Given the description of an element on the screen output the (x, y) to click on. 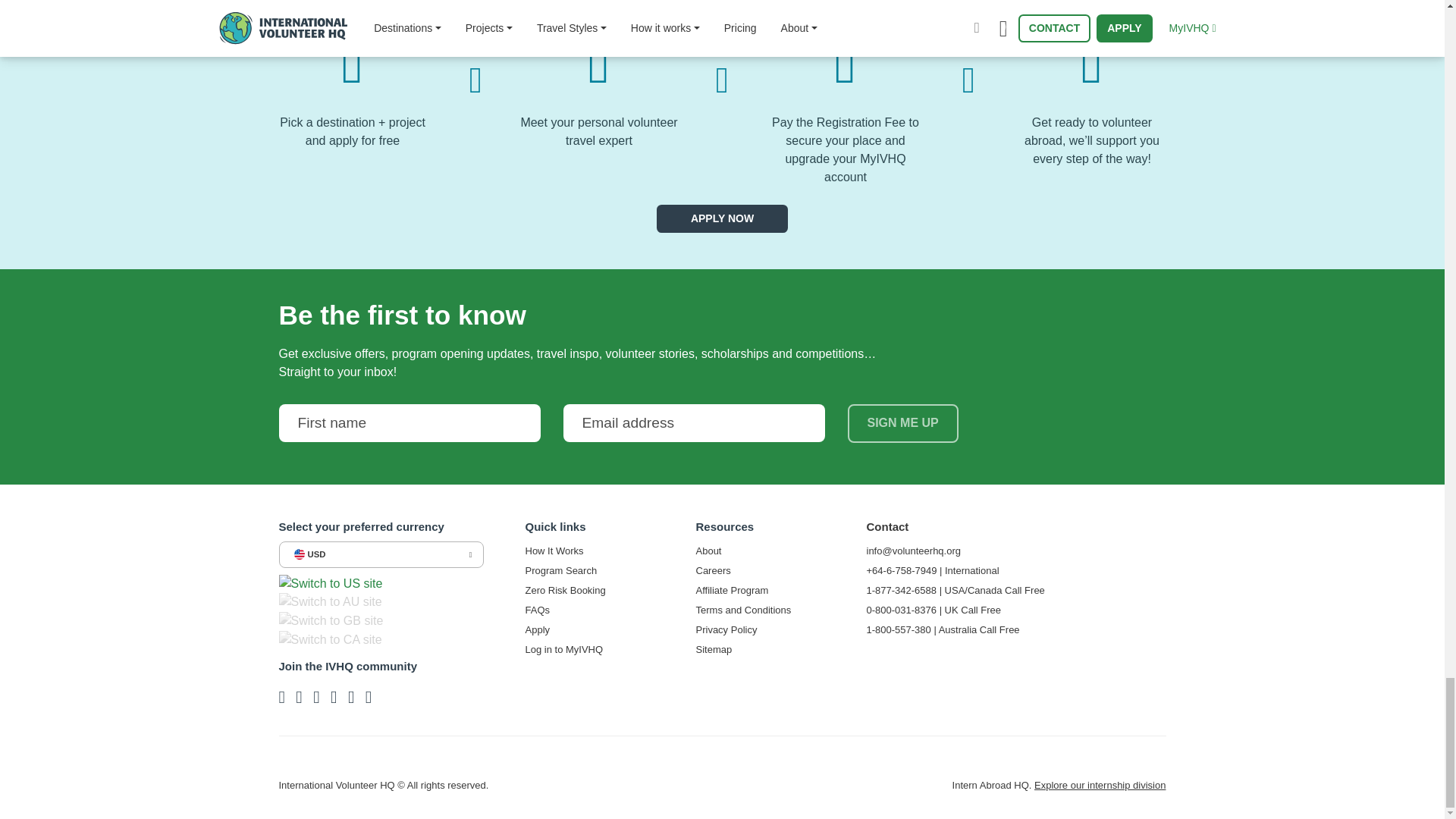
Email (693, 423)
First name (409, 423)
